Given the description of an element on the screen output the (x, y) to click on. 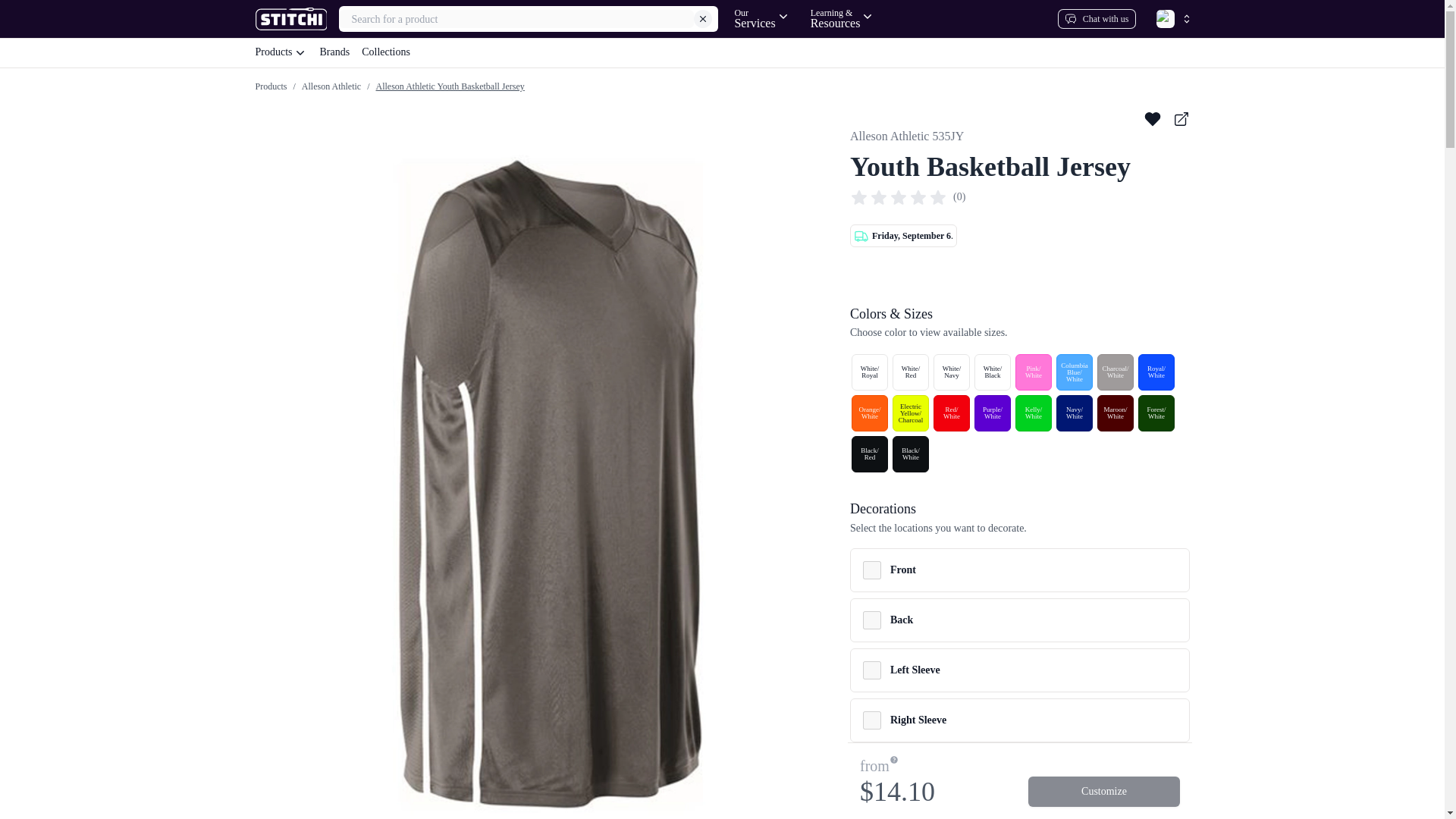
checked (721, 52)
checked (871, 669)
checked (761, 18)
Chat with us (871, 570)
checked (871, 720)
Products (1096, 18)
